Given the description of an element on the screen output the (x, y) to click on. 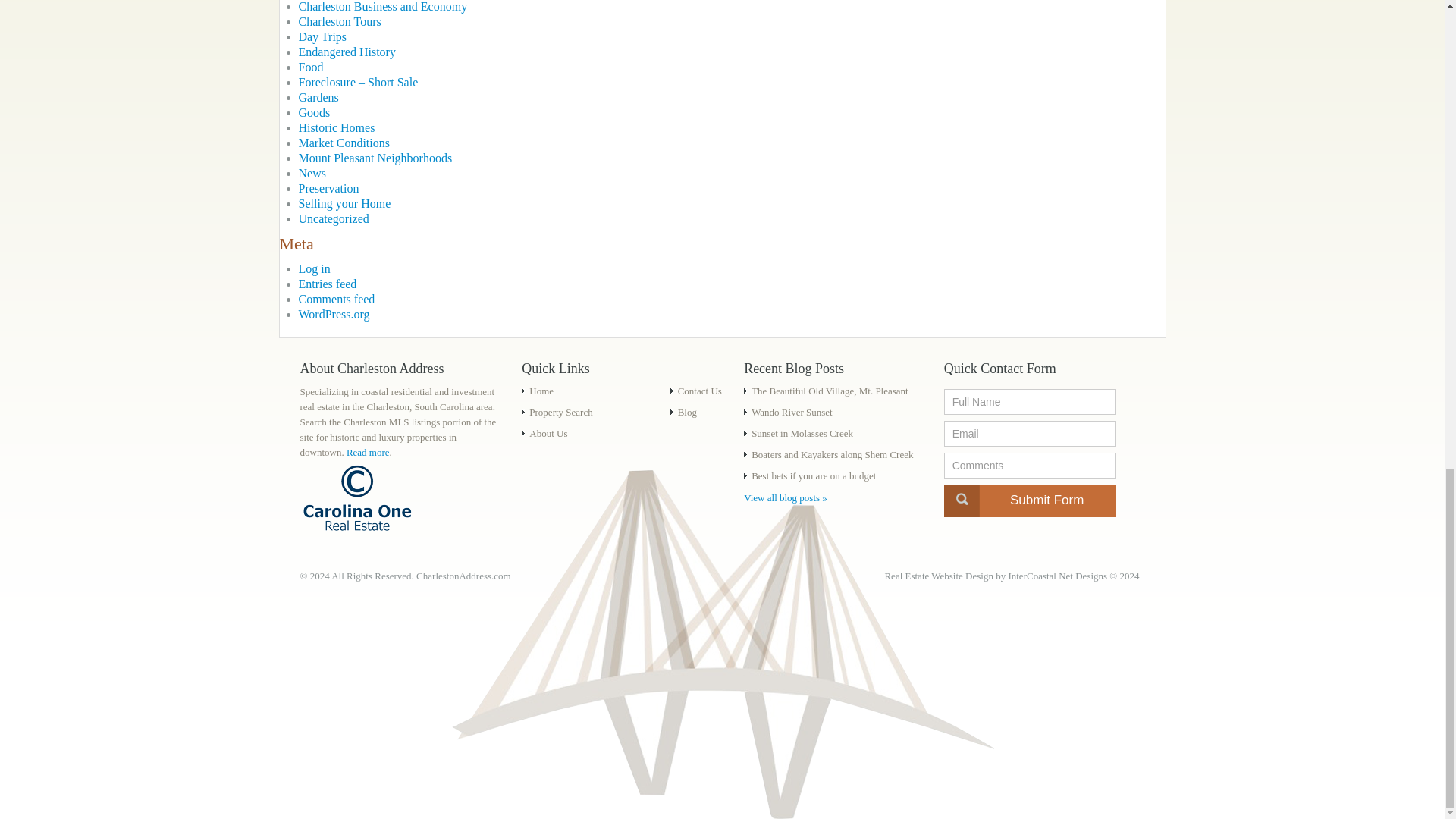
Submit Form (1029, 500)
